Given the description of an element on the screen output the (x, y) to click on. 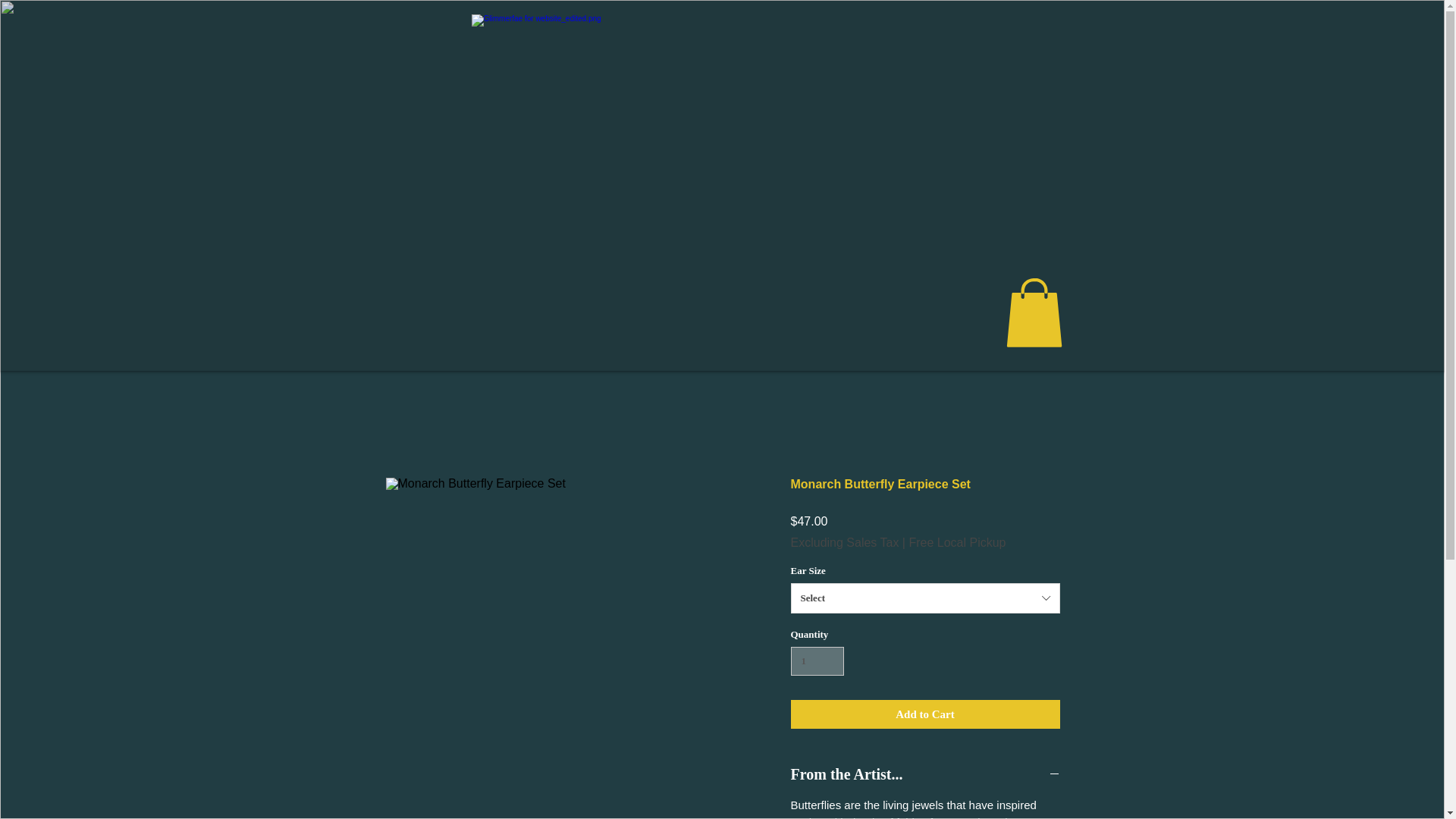
Free Local Pickup (957, 542)
1 (817, 661)
Select (924, 598)
From the Artist... (924, 773)
Add to Cart (924, 714)
